Given the description of an element on the screen output the (x, y) to click on. 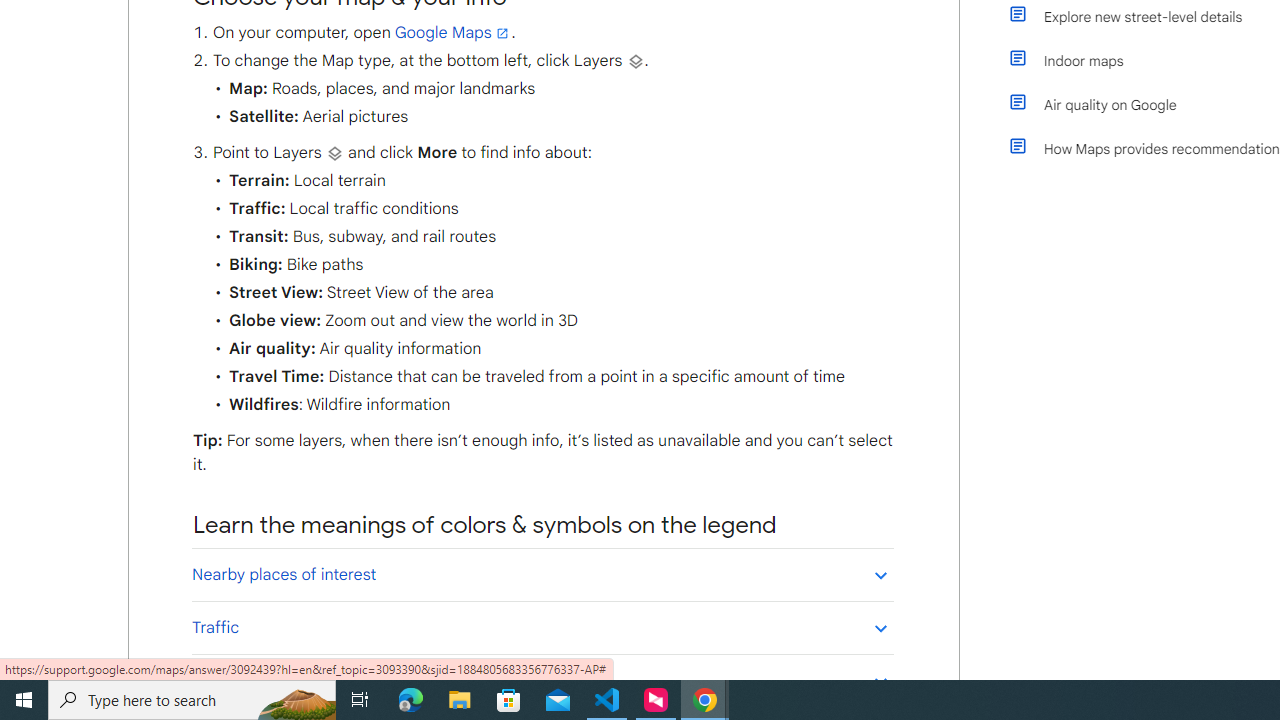
Traffic (542, 627)
Layers (334, 153)
Google Maps (453, 33)
Nearby places of interest (542, 574)
Public transit (542, 680)
